Given the description of an element on the screen output the (x, y) to click on. 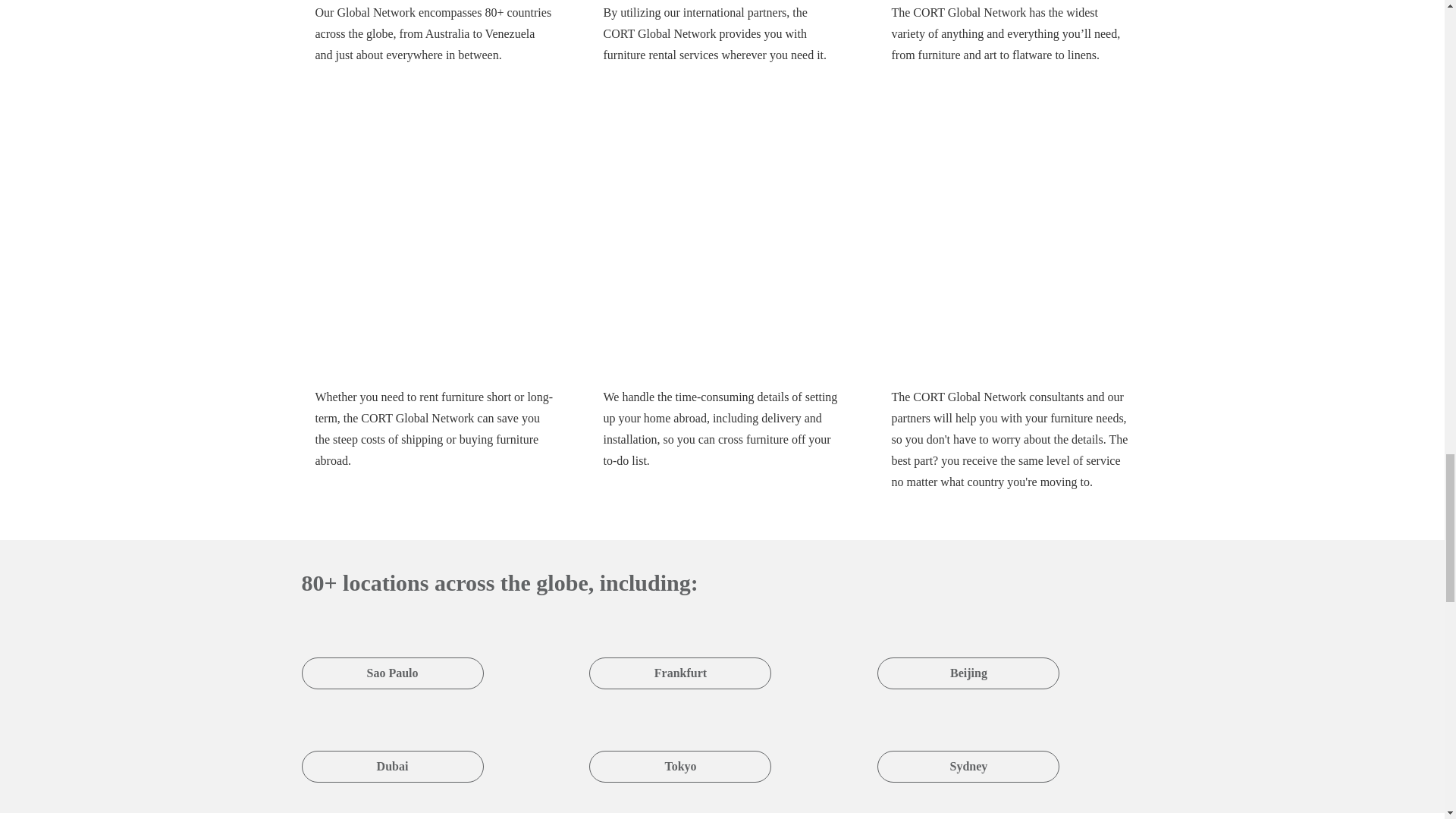
Tokyo (680, 746)
Beijing (968, 653)
Sao Paulo (392, 653)
Sydney (968, 746)
Dubai (392, 746)
Frankfurt (680, 653)
